Given the description of an element on the screen output the (x, y) to click on. 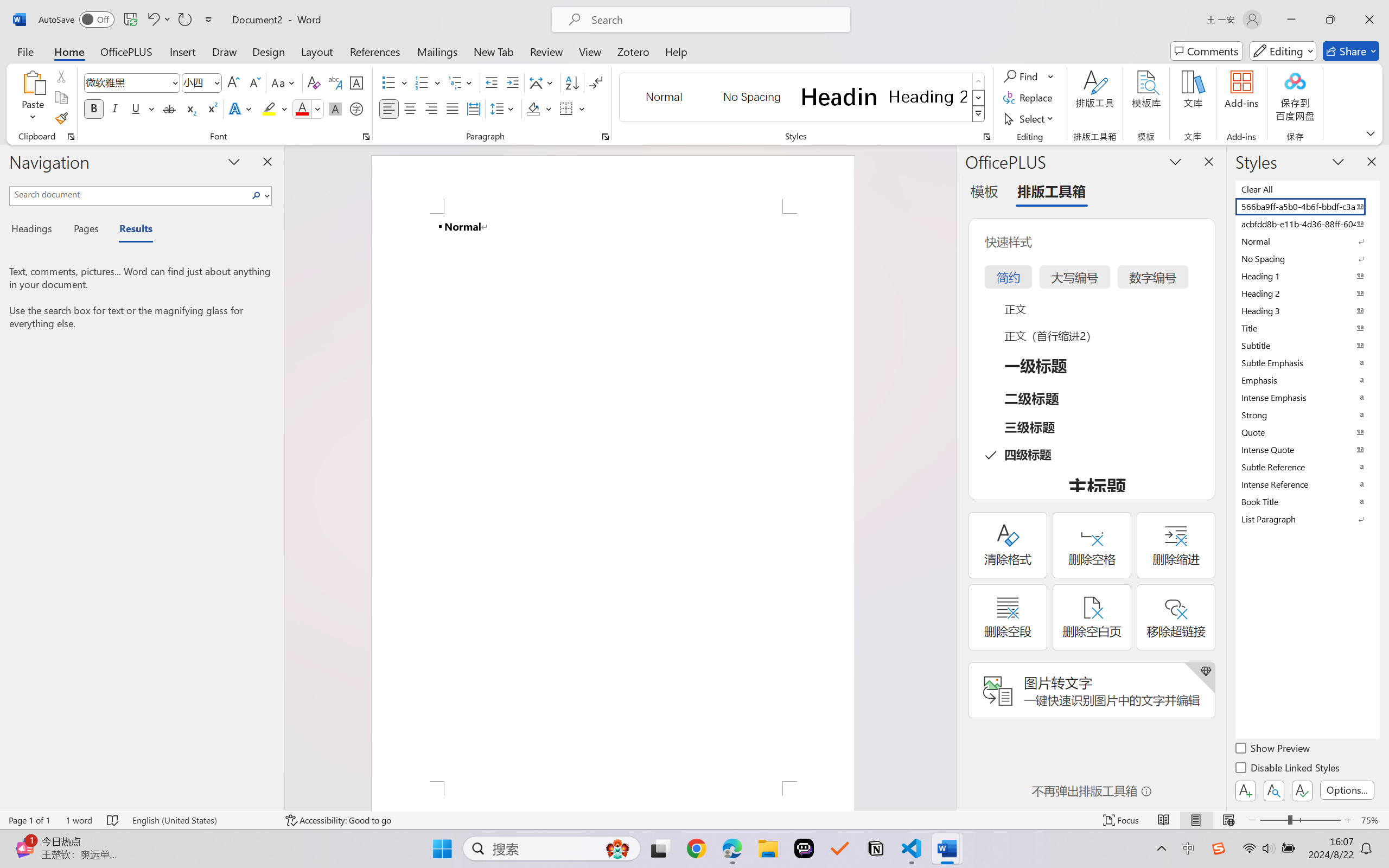
Title (1306, 327)
Task Pane Options (1175, 161)
Class: Image (1218, 847)
Undo Text Fill Effect (158, 19)
Font (132, 82)
Align Right (431, 108)
Shading RGB(0, 0, 0) (533, 108)
Change Case (284, 82)
Enclose Characters... (356, 108)
Disable Linked Styles (1287, 769)
